Given the description of an element on the screen output the (x, y) to click on. 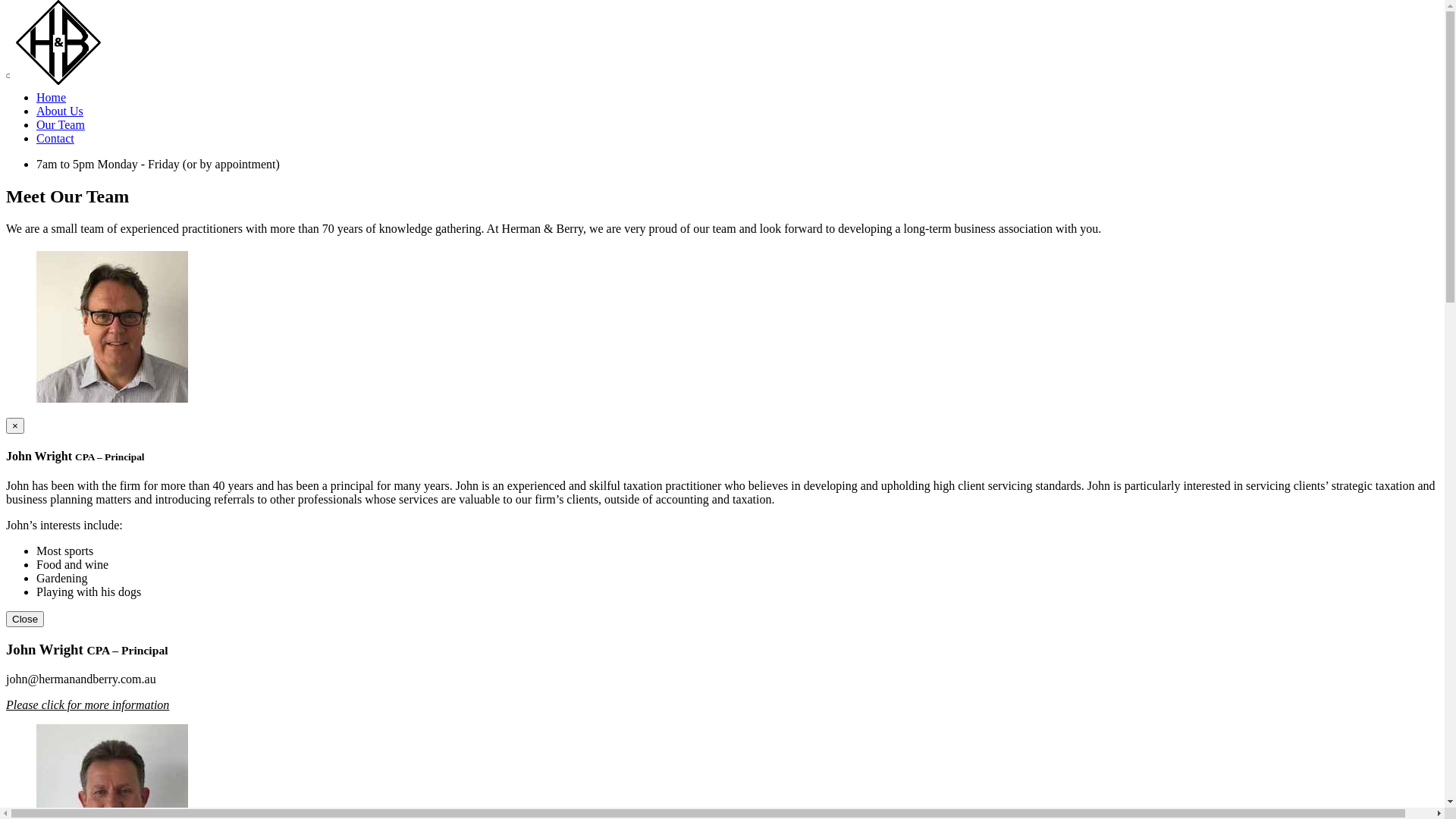
Close Element type: text (24, 619)
Please click for more information Element type: text (87, 704)
About Us Element type: text (59, 110)
Home Element type: text (50, 97)
Our Team Element type: text (60, 124)
Contact Element type: text (55, 137)
7am to 5pm Monday - Friday (or by appointment) Element type: text (157, 163)
